Given the description of an element on the screen output the (x, y) to click on. 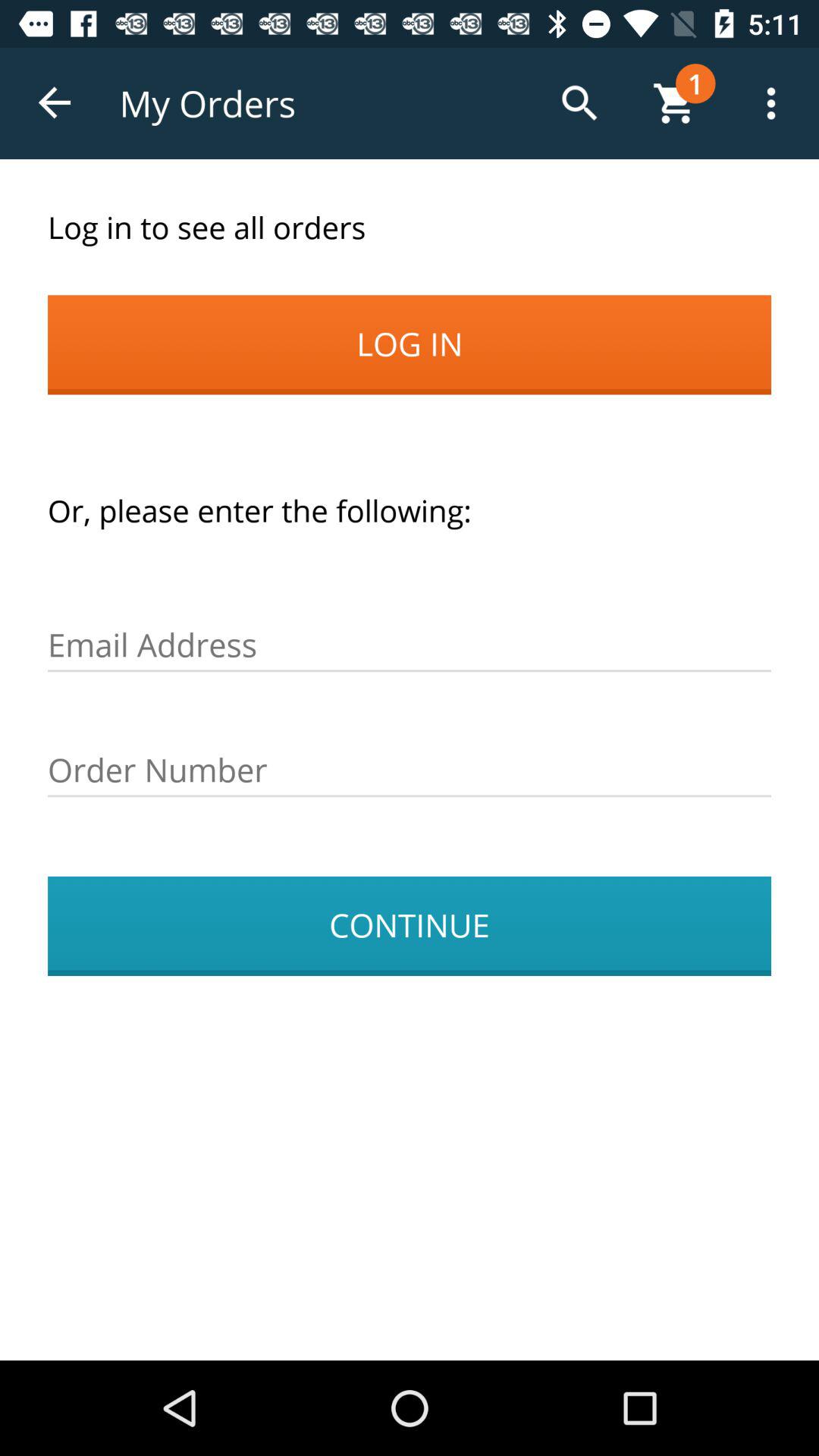
text field for the order number (409, 770)
